Given the description of an element on the screen output the (x, y) to click on. 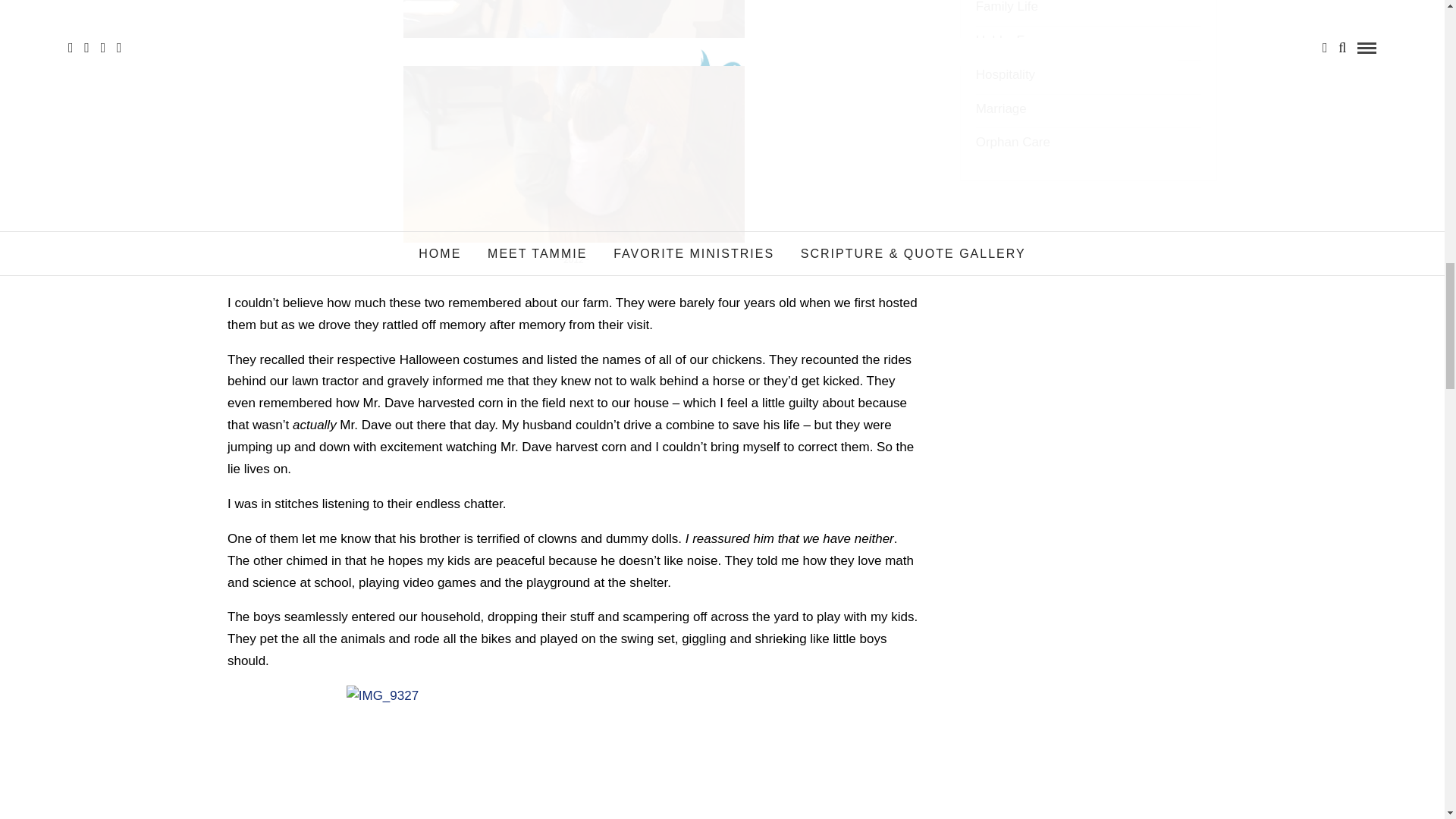
Family Life (1006, 12)
